Given the description of an element on the screen output the (x, y) to click on. 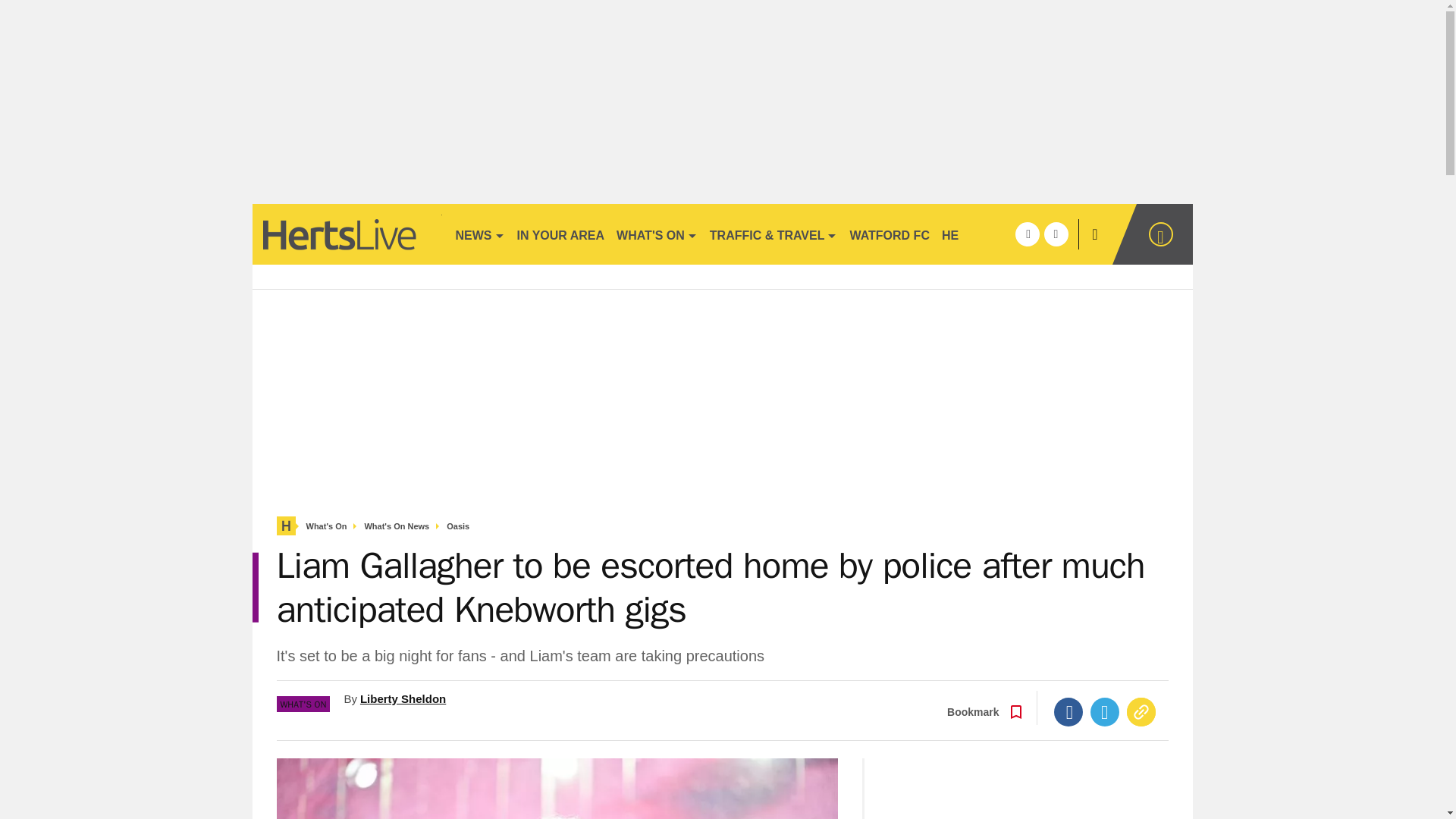
NEWS (479, 233)
IN YOUR AREA (561, 233)
Twitter (1104, 711)
twitter (1055, 233)
hertfordshiremercury (346, 233)
WHAT'S ON (656, 233)
Facebook (1068, 711)
WATFORD FC (888, 233)
HEMEL HEMPSTEAD (1003, 233)
facebook (1026, 233)
